Given the description of an element on the screen output the (x, y) to click on. 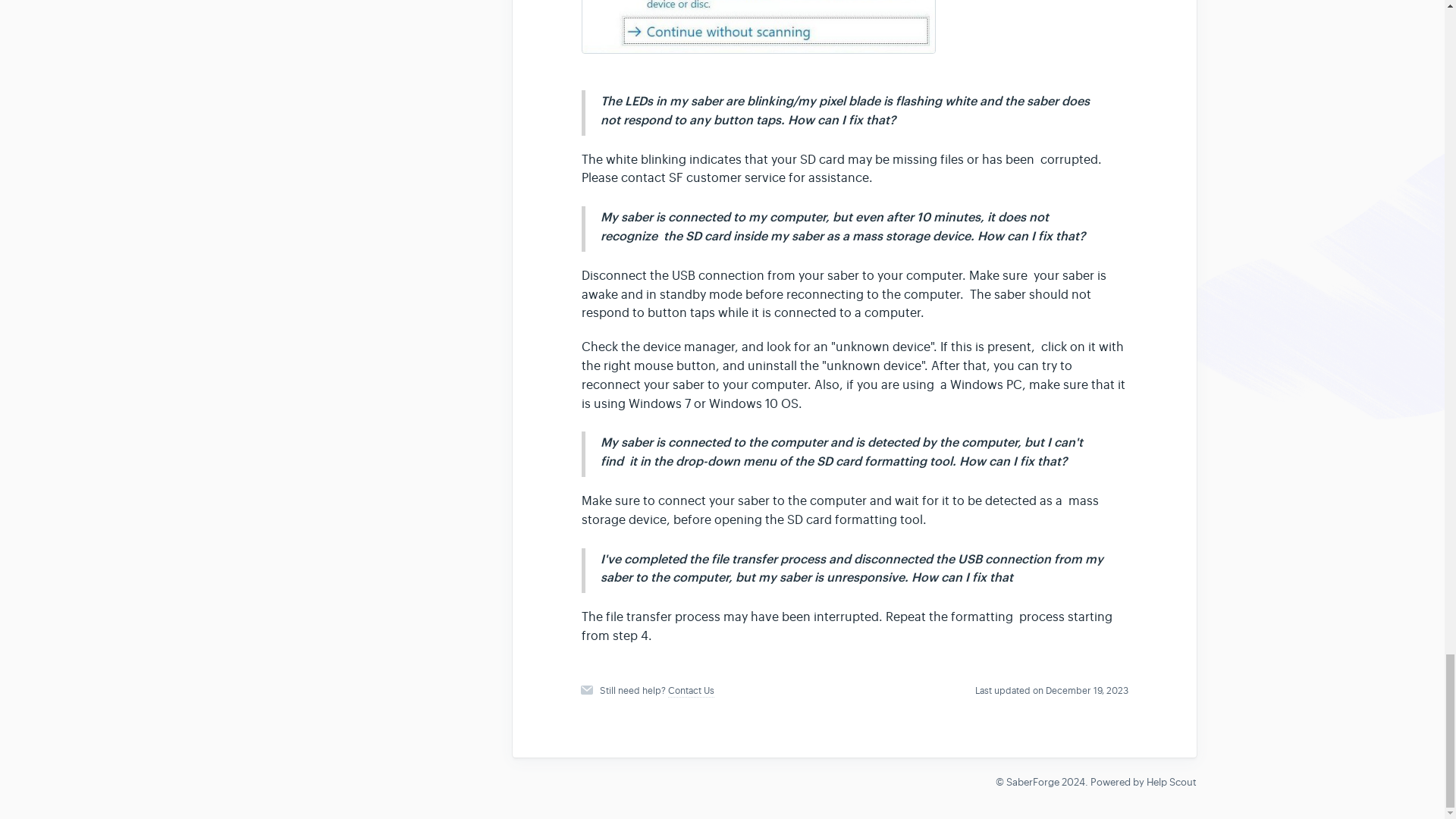
Contact Us (691, 690)
SaberForge (1032, 781)
Help Scout (1171, 781)
